Given the description of an element on the screen output the (x, y) to click on. 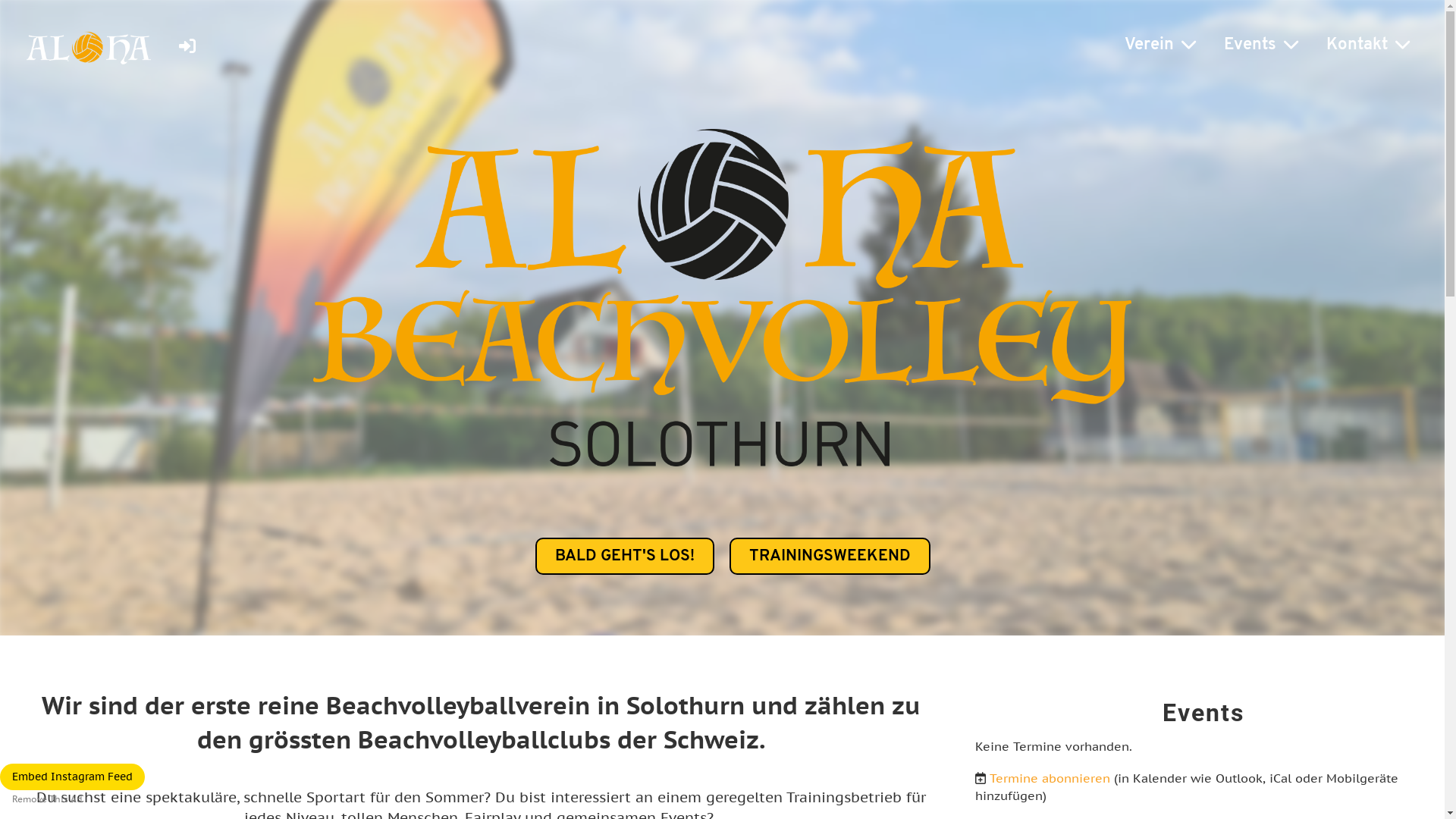
BALD GEHT'S LOS! Element type: text (624, 555)
Verein Element type: text (1160, 45)
Kontakt Element type: text (1367, 45)
Embed Instagram Feed Element type: text (72, 776)
Termine abonnieren Element type: text (1049, 777)
Remove This Ad Element type: text (47, 798)
Events Element type: text (1260, 45)
TRAININGSWEEKEND Element type: text (829, 555)
